Given the description of an element on the screen output the (x, y) to click on. 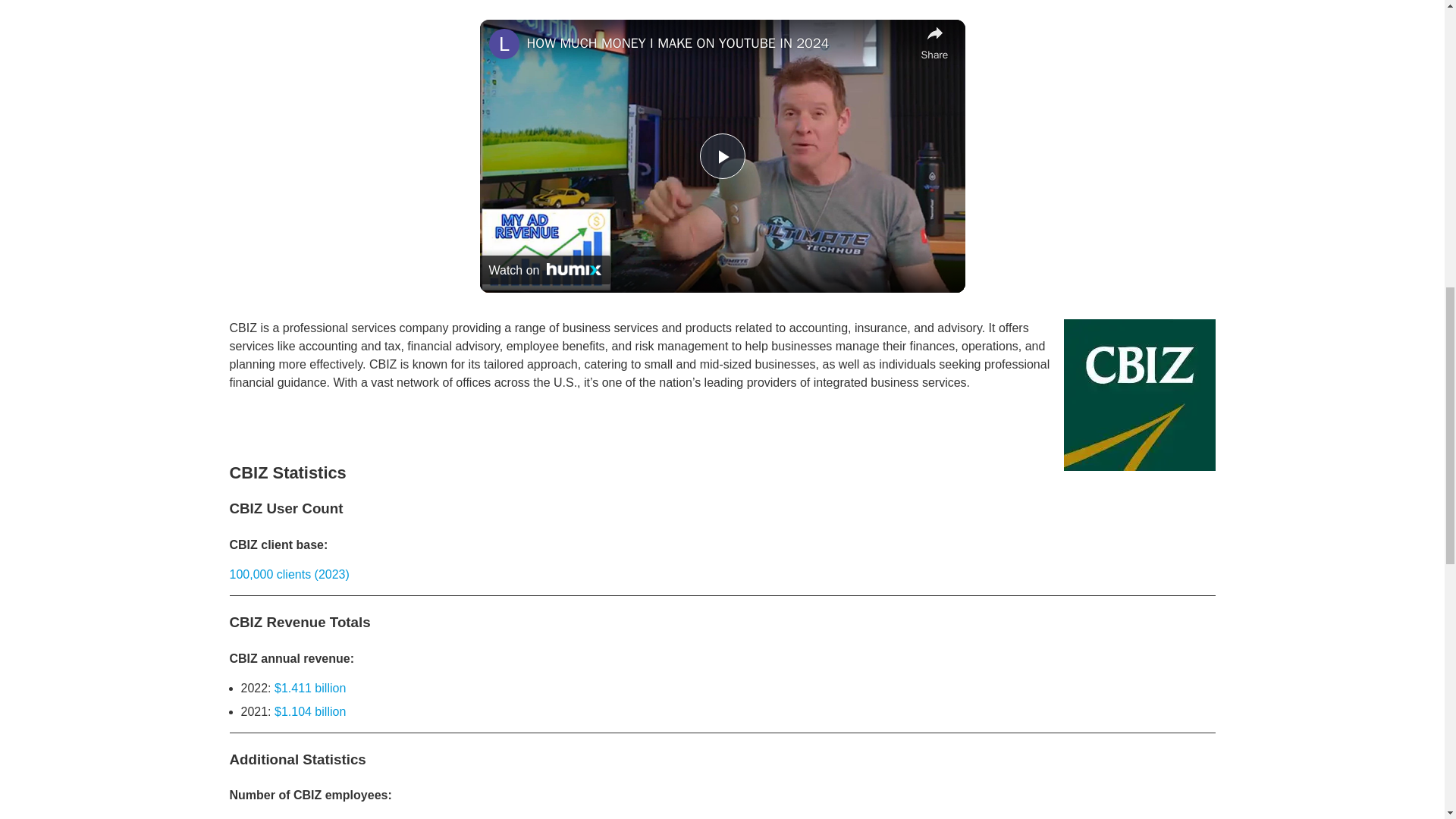
Play Video (721, 156)
Play Video (721, 156)
CBIZ Statistics user count and Facts (1138, 394)
HOW MUCH MONEY I MAKE ON YOUTUBE IN 2024 (718, 43)
Watch on (544, 269)
